Given the description of an element on the screen output the (x, y) to click on. 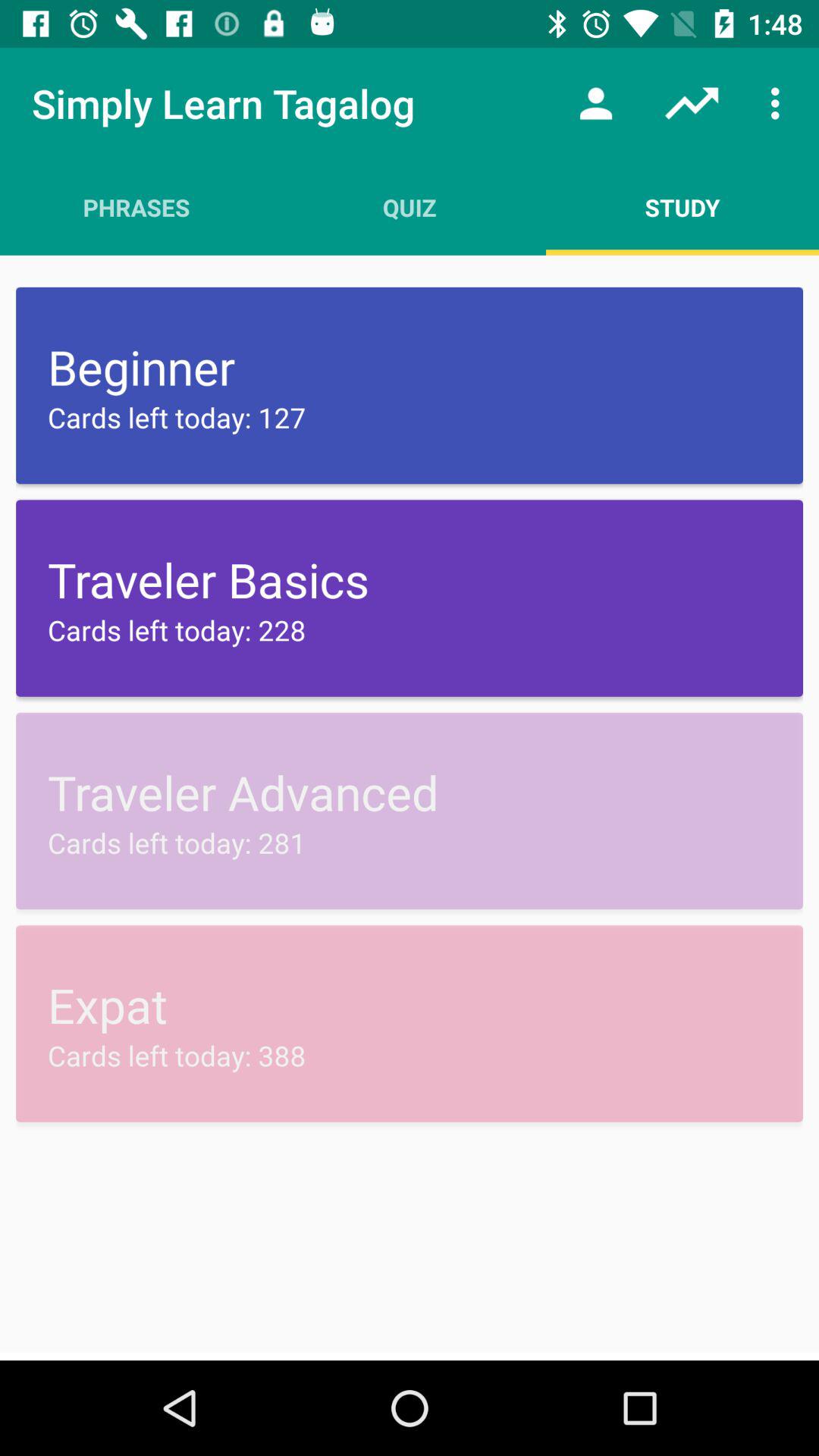
launch item next to phrases icon (409, 207)
